Given the description of an element on the screen output the (x, y) to click on. 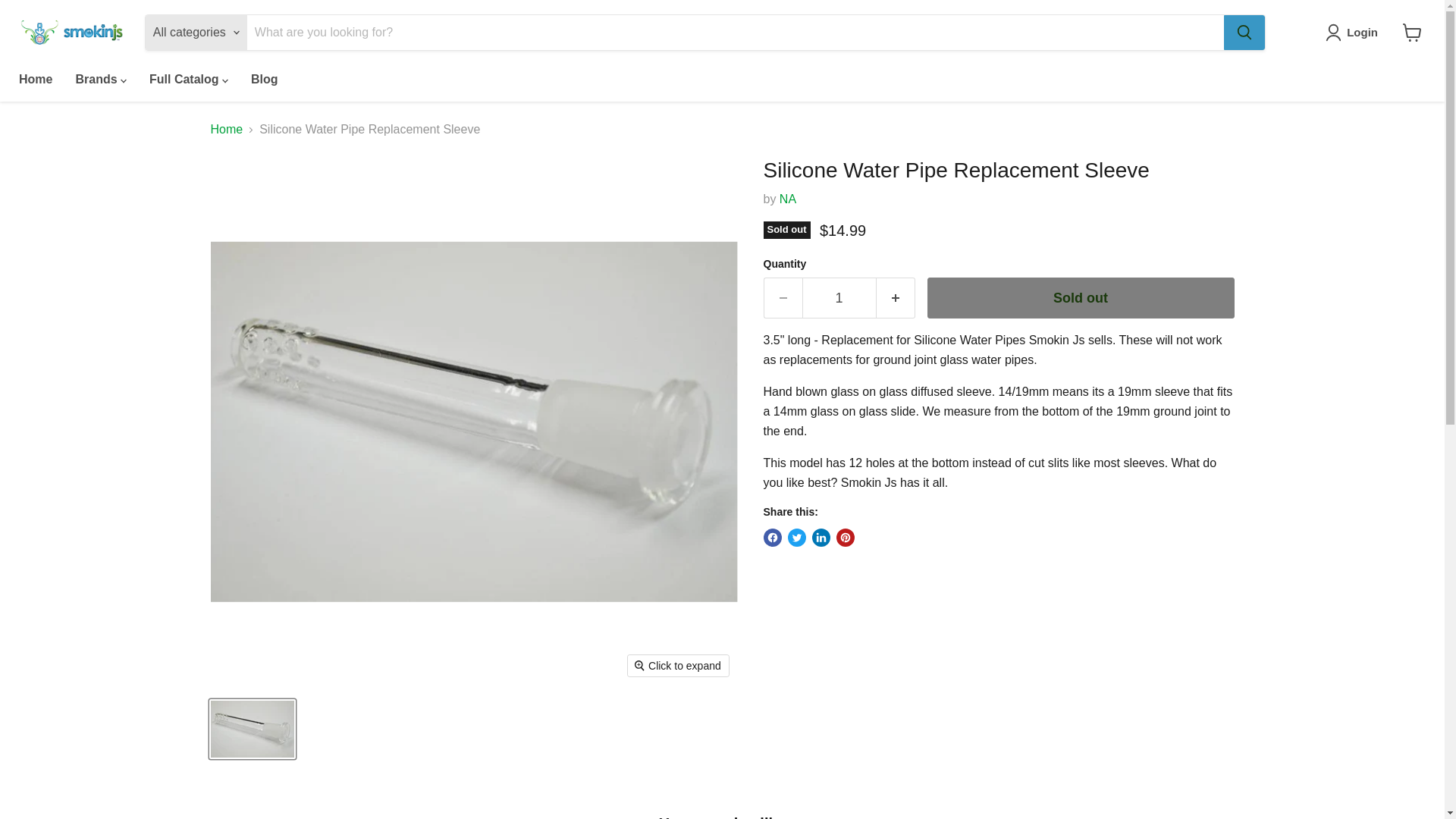
Home (35, 79)
NA (787, 198)
1 (839, 298)
View cart (1411, 32)
Login (1354, 32)
